Given the description of an element on the screen output the (x, y) to click on. 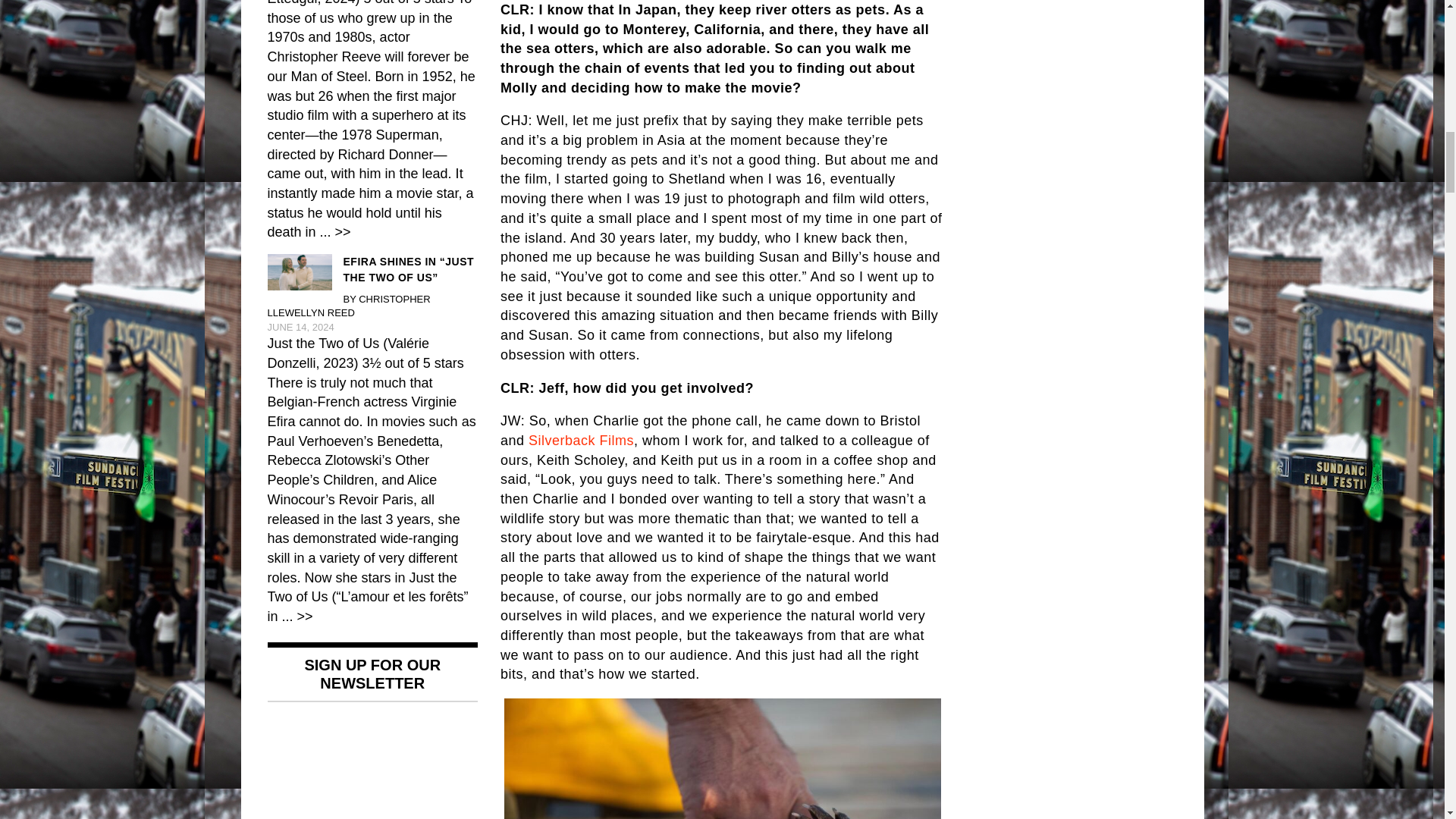
Silverback Films (580, 440)
